Given the description of an element on the screen output the (x, y) to click on. 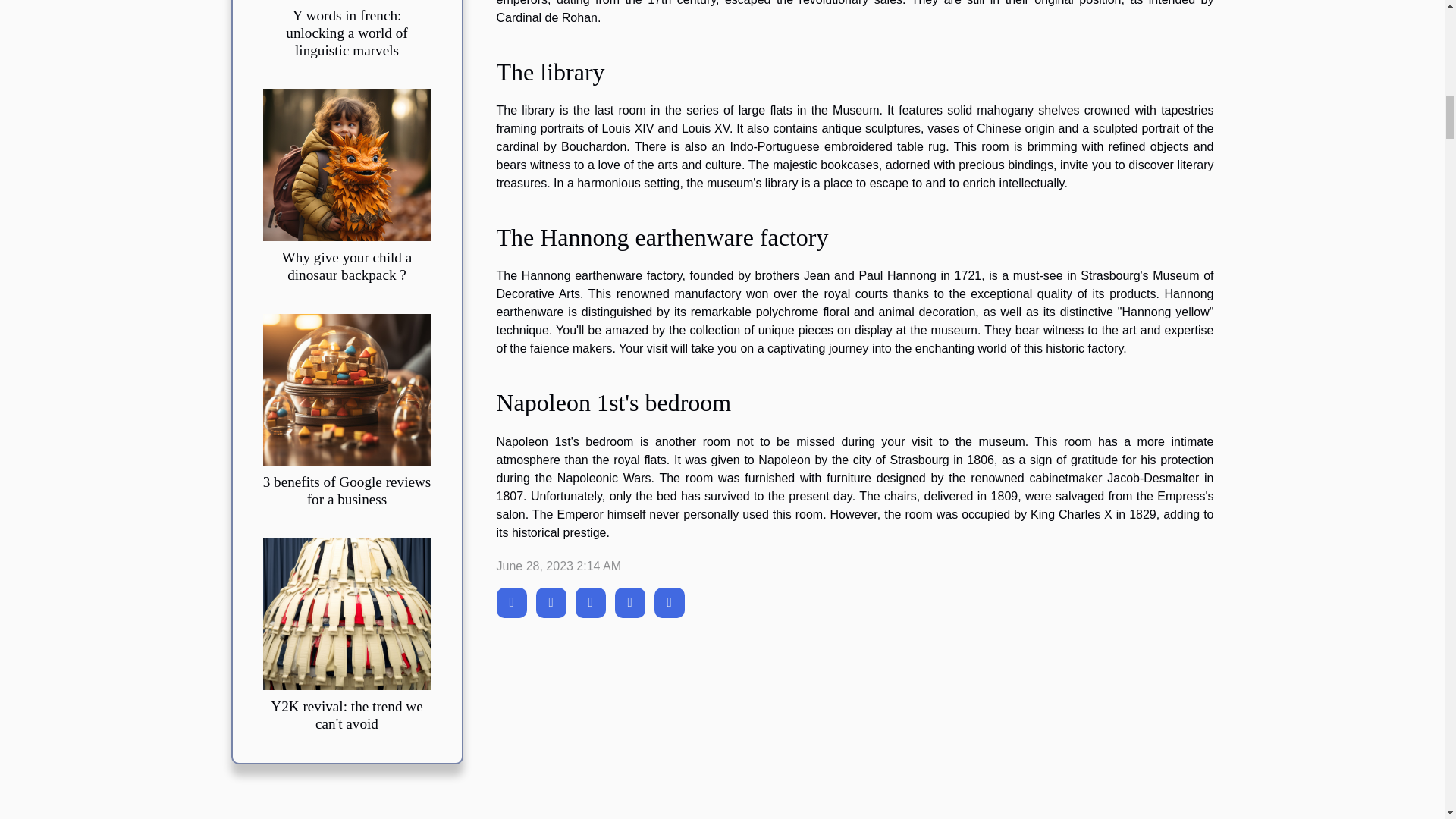
3 benefits of Google reviews for a business (346, 388)
Y2K revival: the trend we can't avoid (346, 715)
Y words in french: unlocking a world of linguistic marvels (346, 32)
Y2K revival: the trend we can't avoid (346, 612)
3 benefits of Google reviews for a business (346, 490)
Y words in french: unlocking a world of linguistic marvels (346, 32)
Why give your child a dinosaur backpack ? (347, 265)
Y2K revival: the trend we can't avoid (346, 715)
3 benefits of Google reviews for a business (346, 490)
Why give your child a dinosaur backpack ? (347, 265)
